Given the description of an element on the screen output the (x, y) to click on. 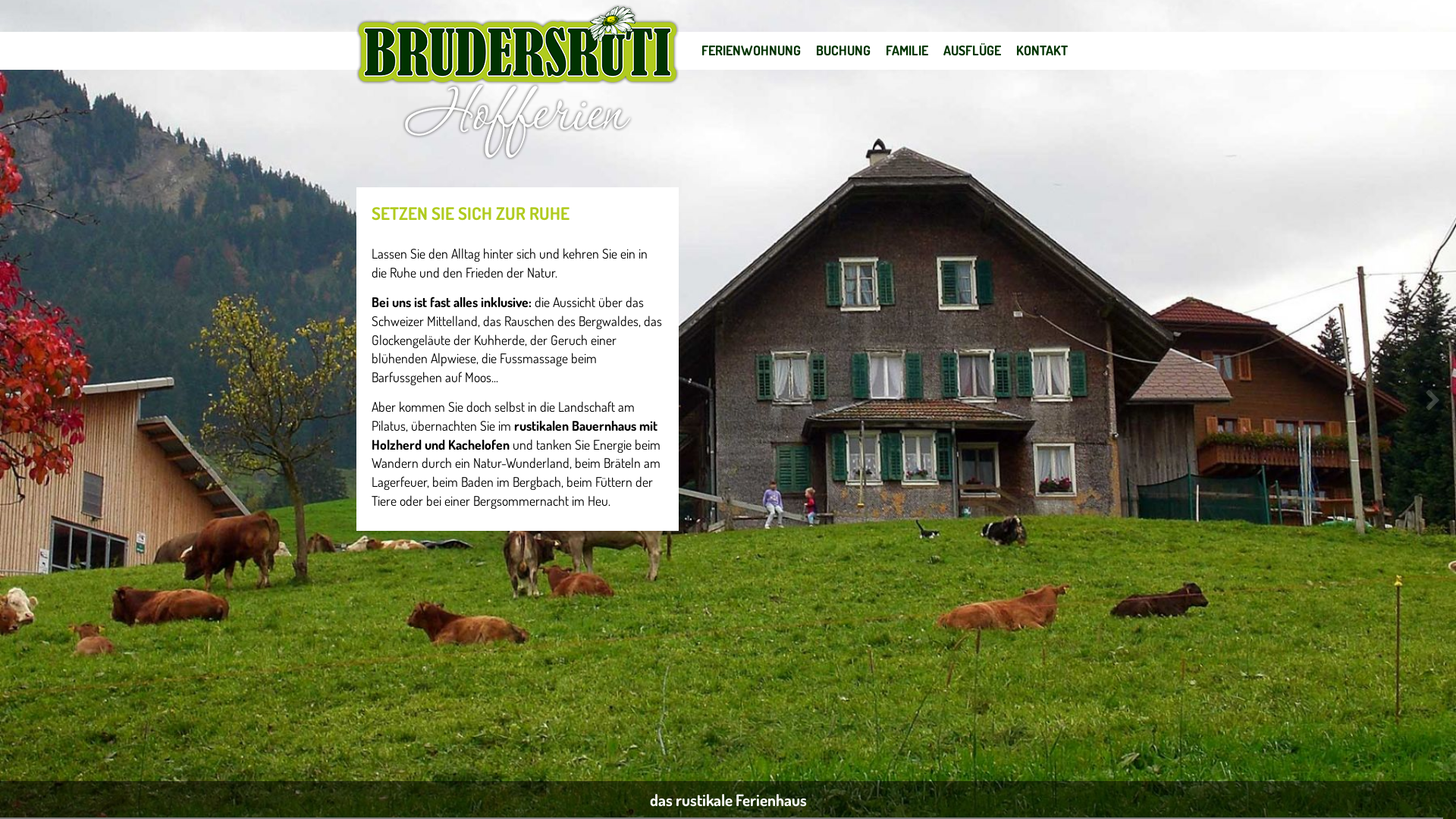
FAMILIE Element type: text (906, 49)
KONTAKT Element type: text (1041, 49)
FERIENWOHNUNG Element type: text (750, 49)
BUCHUNG Element type: text (842, 49)
